Given the description of an element on the screen output the (x, y) to click on. 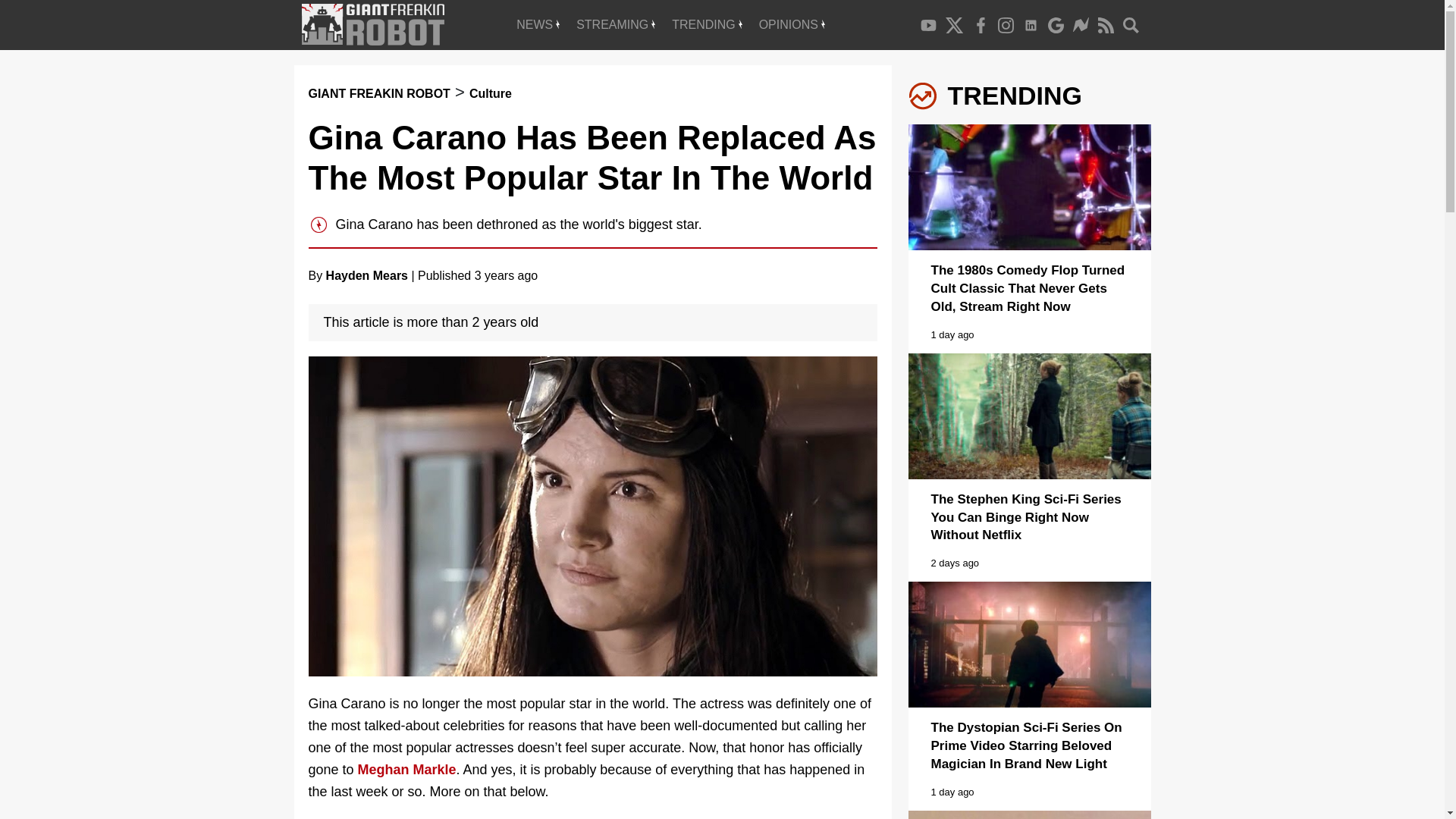
STREAMING (615, 24)
Streaming (615, 24)
Culture (490, 92)
GIANT FREAKIN ROBOT (378, 92)
OPINIONS (791, 24)
Hayden Mears (366, 275)
NEWS (537, 24)
Trending (706, 24)
Entertainment News (537, 24)
TRENDING (706, 24)
